Given the description of an element on the screen output the (x, y) to click on. 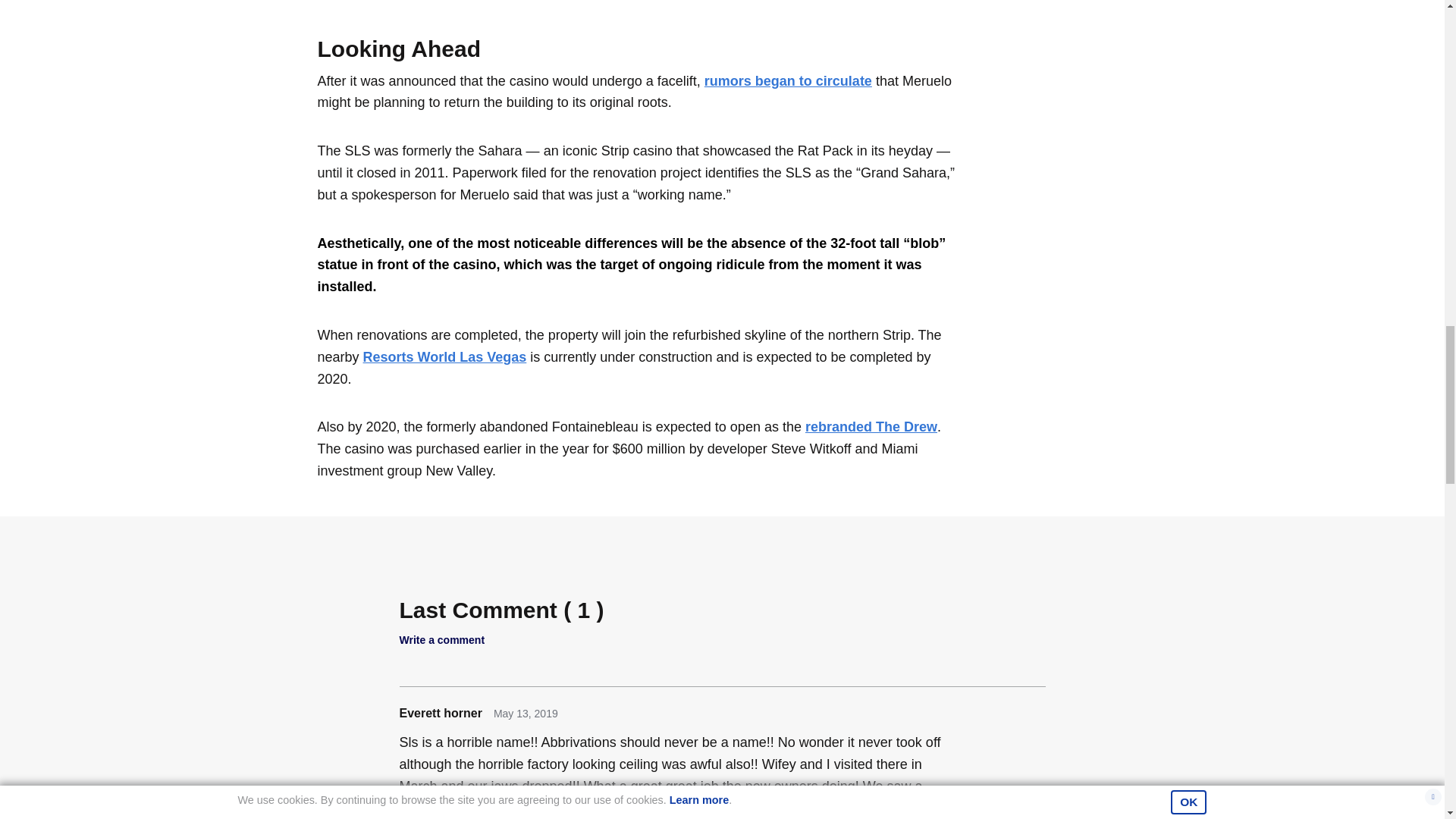
rebranded The Drew (871, 426)
Resorts World Las Vegas (444, 356)
rumors began to circulate (788, 80)
